Given the description of an element on the screen output the (x, y) to click on. 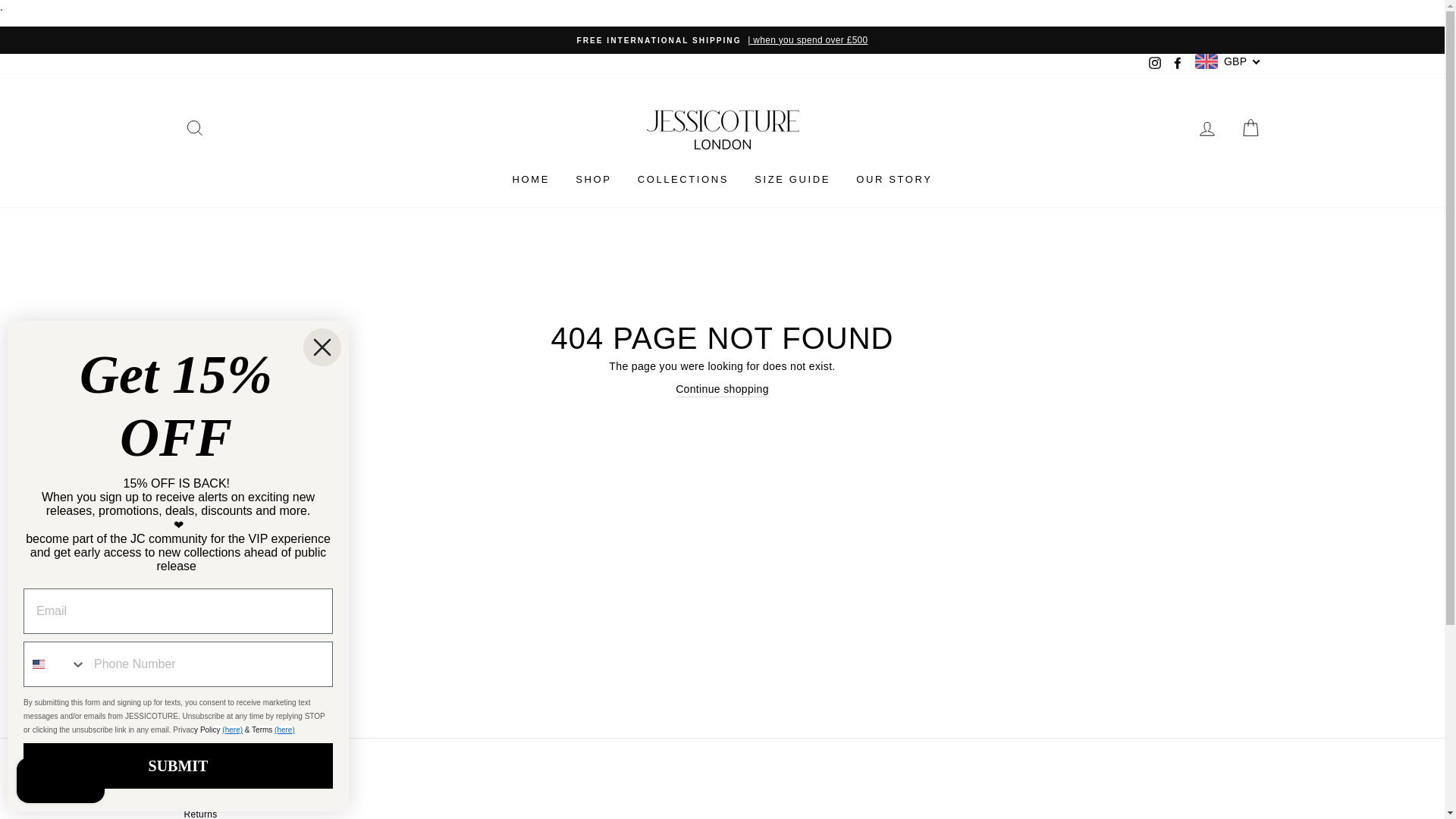
Instagram (1154, 64)
LOG IN (1207, 128)
United States (38, 664)
Jessicoture on Instagram (1154, 64)
Jessicoture on Facebook (1177, 64)
Facebook (1177, 64)
Shopify online store chat (60, 781)
SEARCH (194, 128)
